Given the description of an element on the screen output the (x, y) to click on. 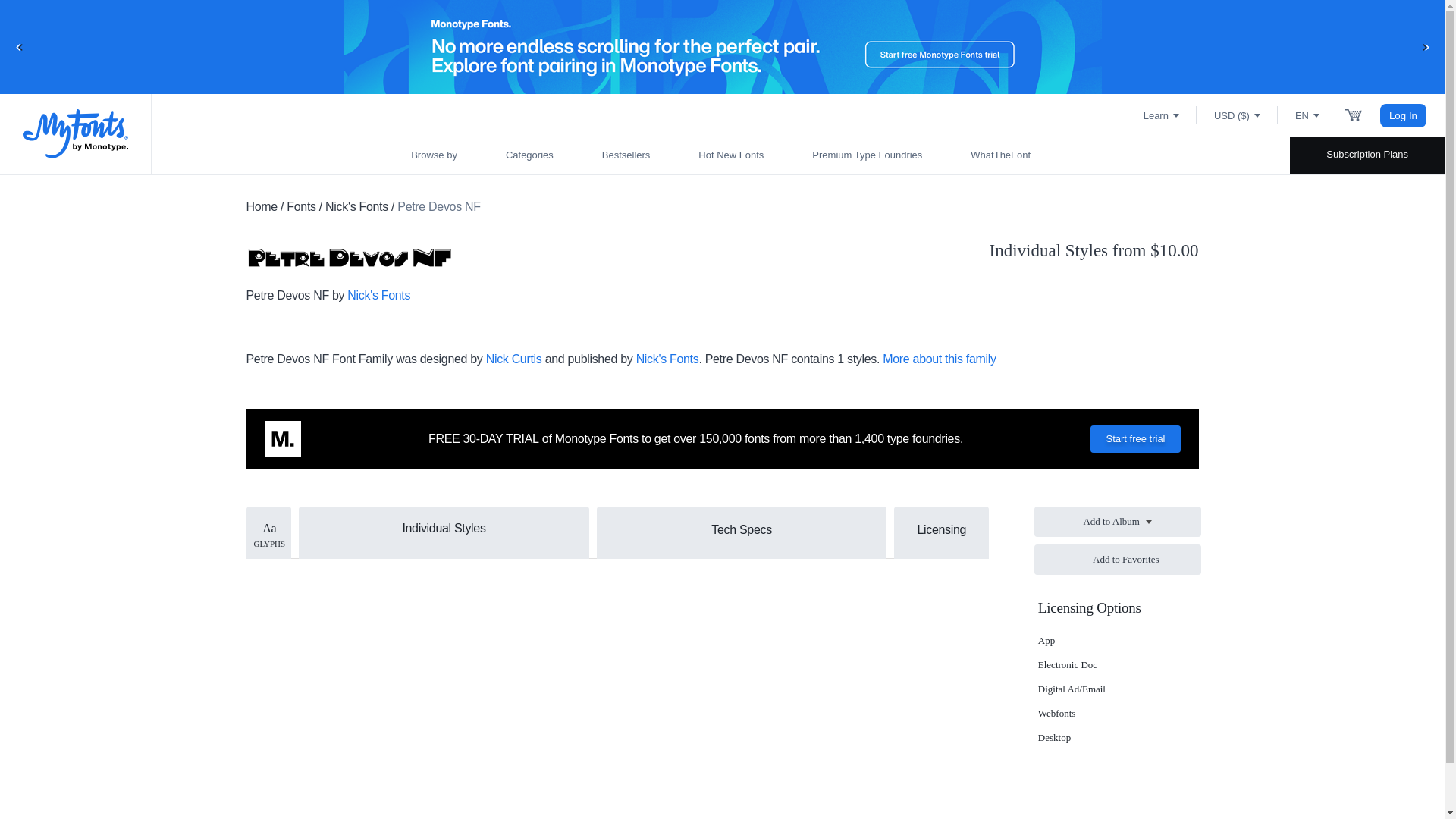
Skip to content (72, 27)
Log In (1403, 114)
Tech Specs (741, 529)
Individual Styles (443, 526)
MyFonts (75, 133)
Licensing (940, 529)
